Given the description of an element on the screen output the (x, y) to click on. 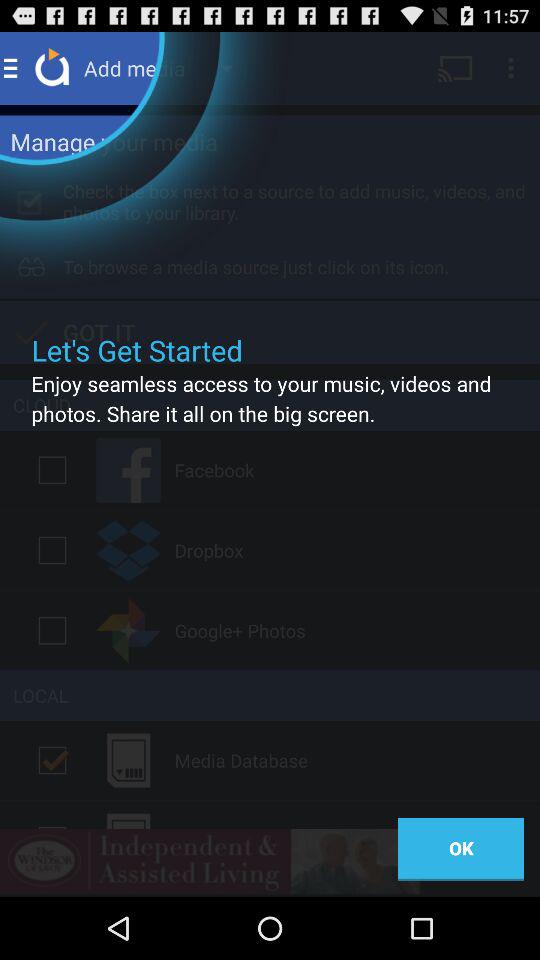
check dropbox (52, 550)
